Given the description of an element on the screen output the (x, y) to click on. 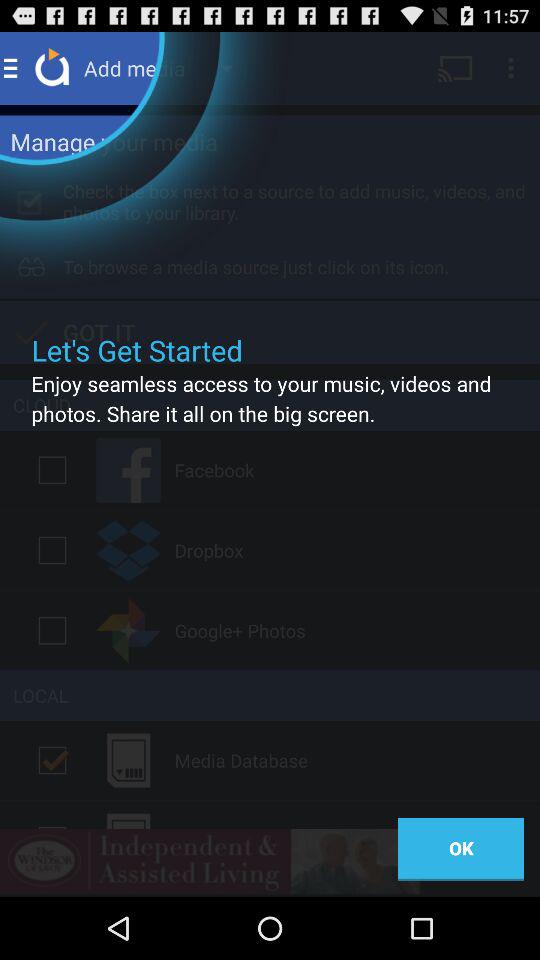
check dropbox (52, 550)
